Given the description of an element on the screen output the (x, y) to click on. 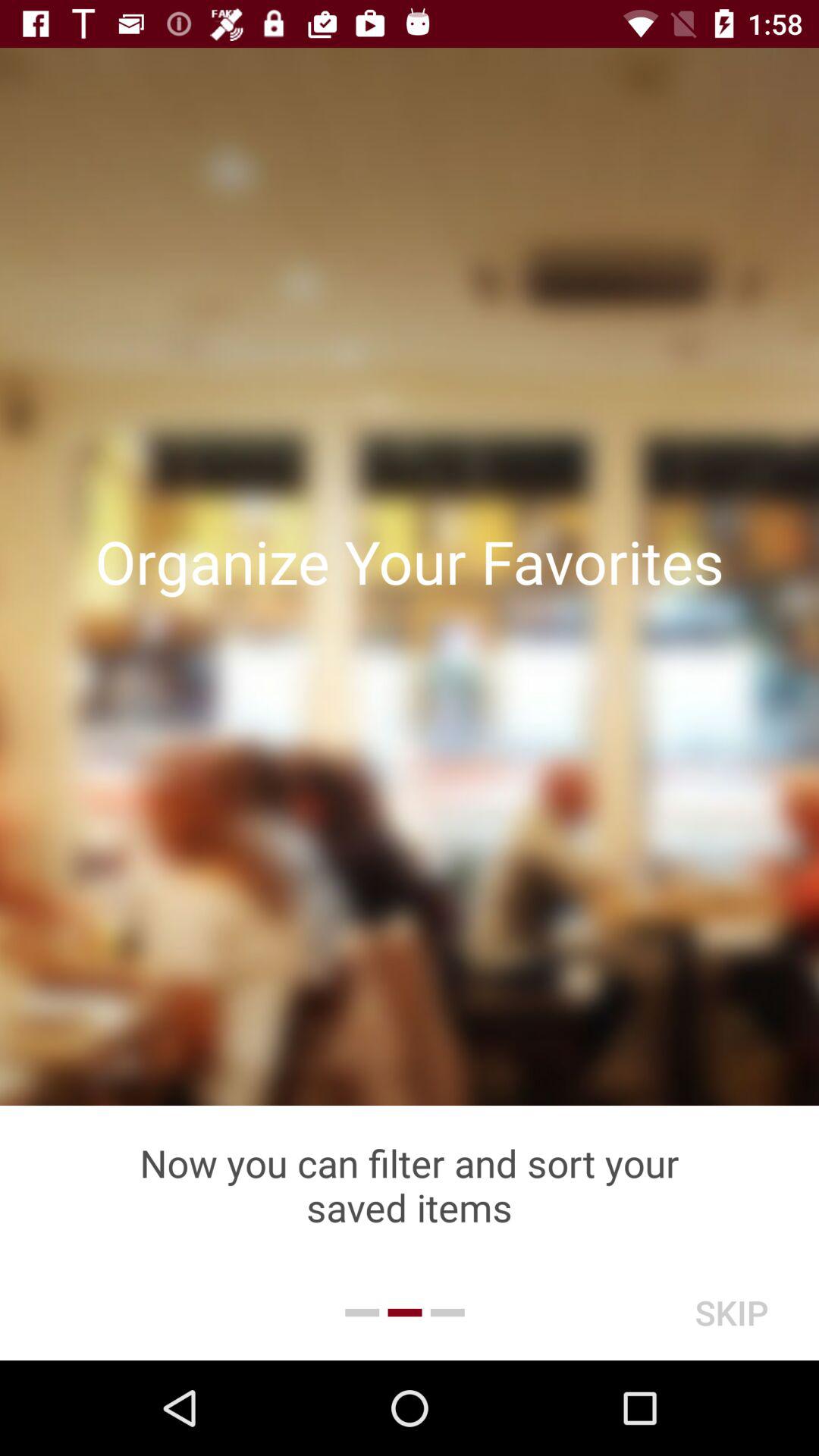
flip until skip (731, 1312)
